Given the description of an element on the screen output the (x, y) to click on. 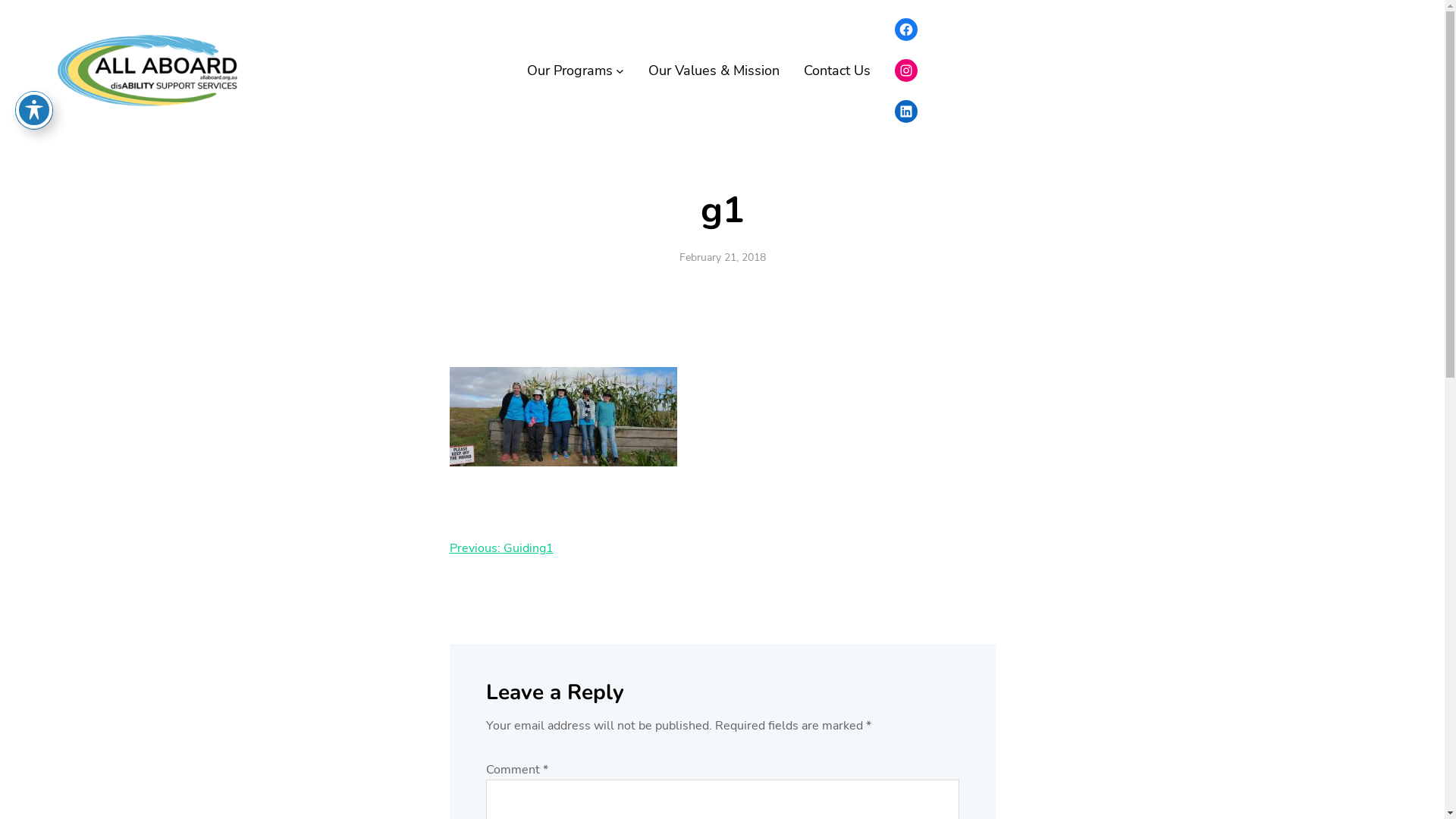
Instagram Element type: text (905, 70)
Contact Us Element type: text (836, 70)
Facebook Element type: text (905, 29)
LinkedIn Element type: text (905, 111)
Our Values & Mission Element type: text (713, 70)
Our Programs Element type: text (569, 70)
Previous: Guiding1 Element type: text (500, 547)
